Given the description of an element on the screen output the (x, y) to click on. 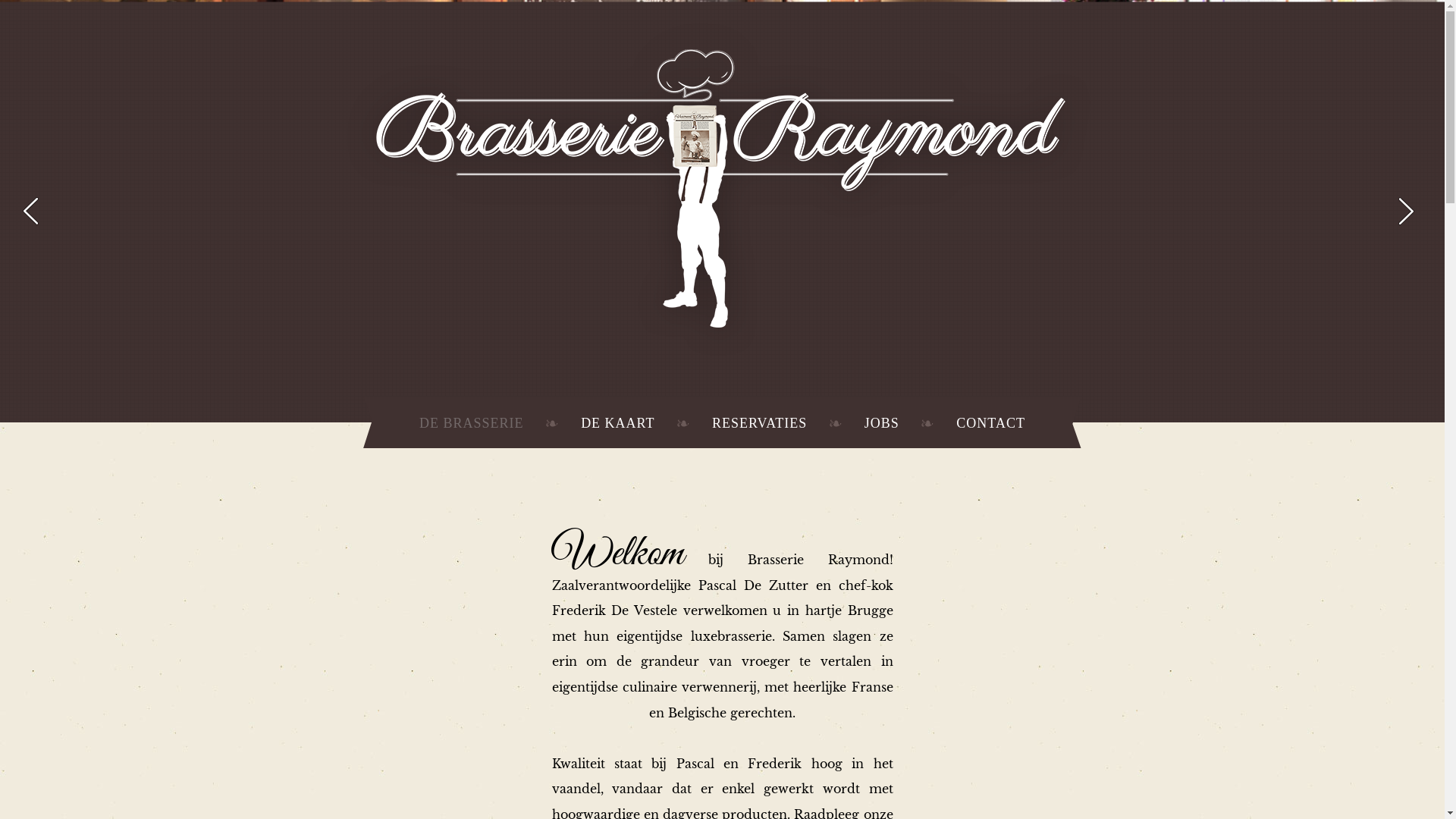
DE KAART Element type: text (617, 422)
RESERVATIES Element type: text (759, 422)
CONTACT Element type: text (990, 422)
  Element type: text (1406, 211)
  Element type: text (30, 211)
JOBS Element type: text (881, 422)
